Given the description of an element on the screen output the (x, y) to click on. 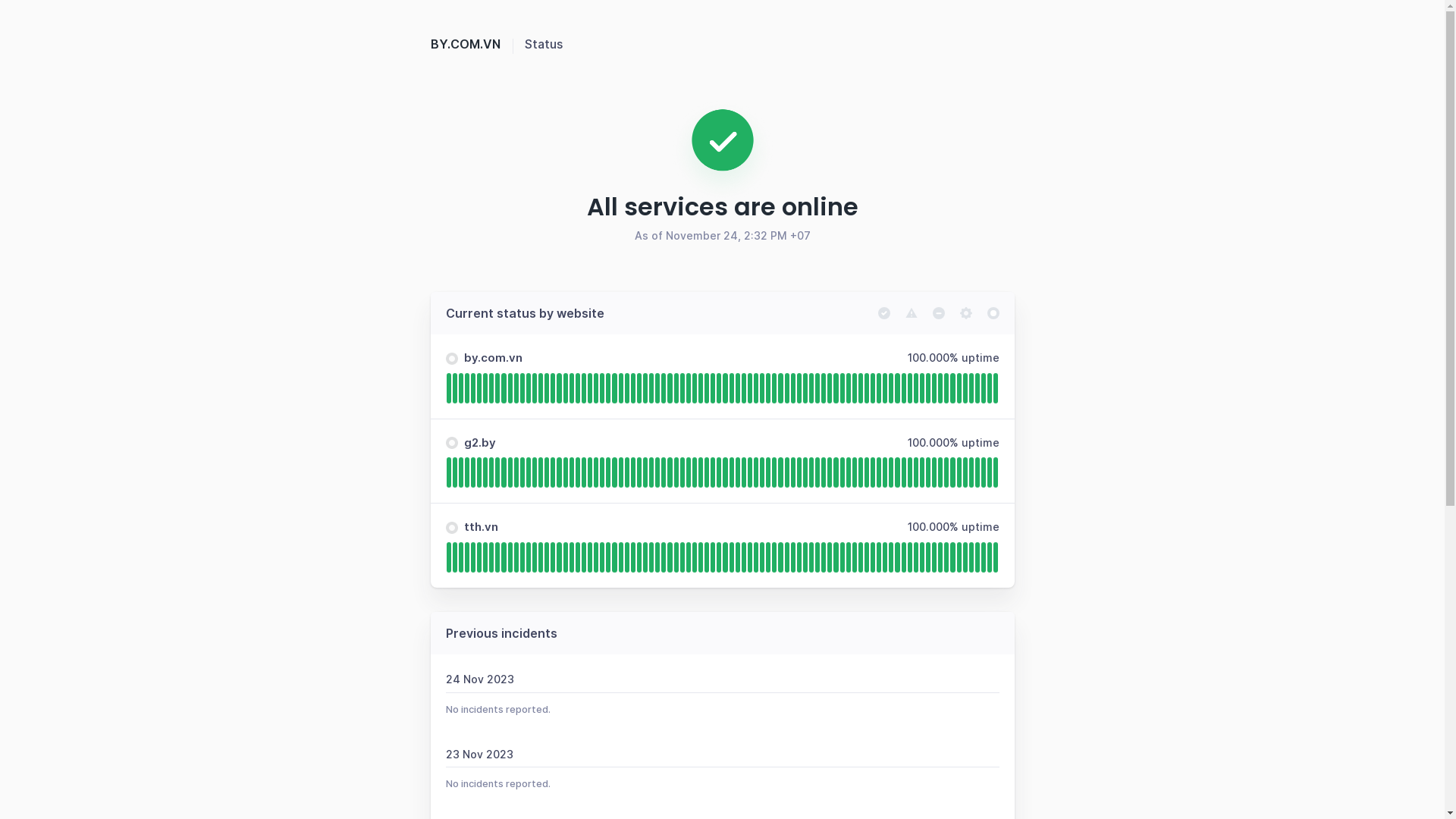
BY.COM.VN Element type: text (477, 43)
Status Element type: text (543, 43)
